Given the description of an element on the screen output the (x, y) to click on. 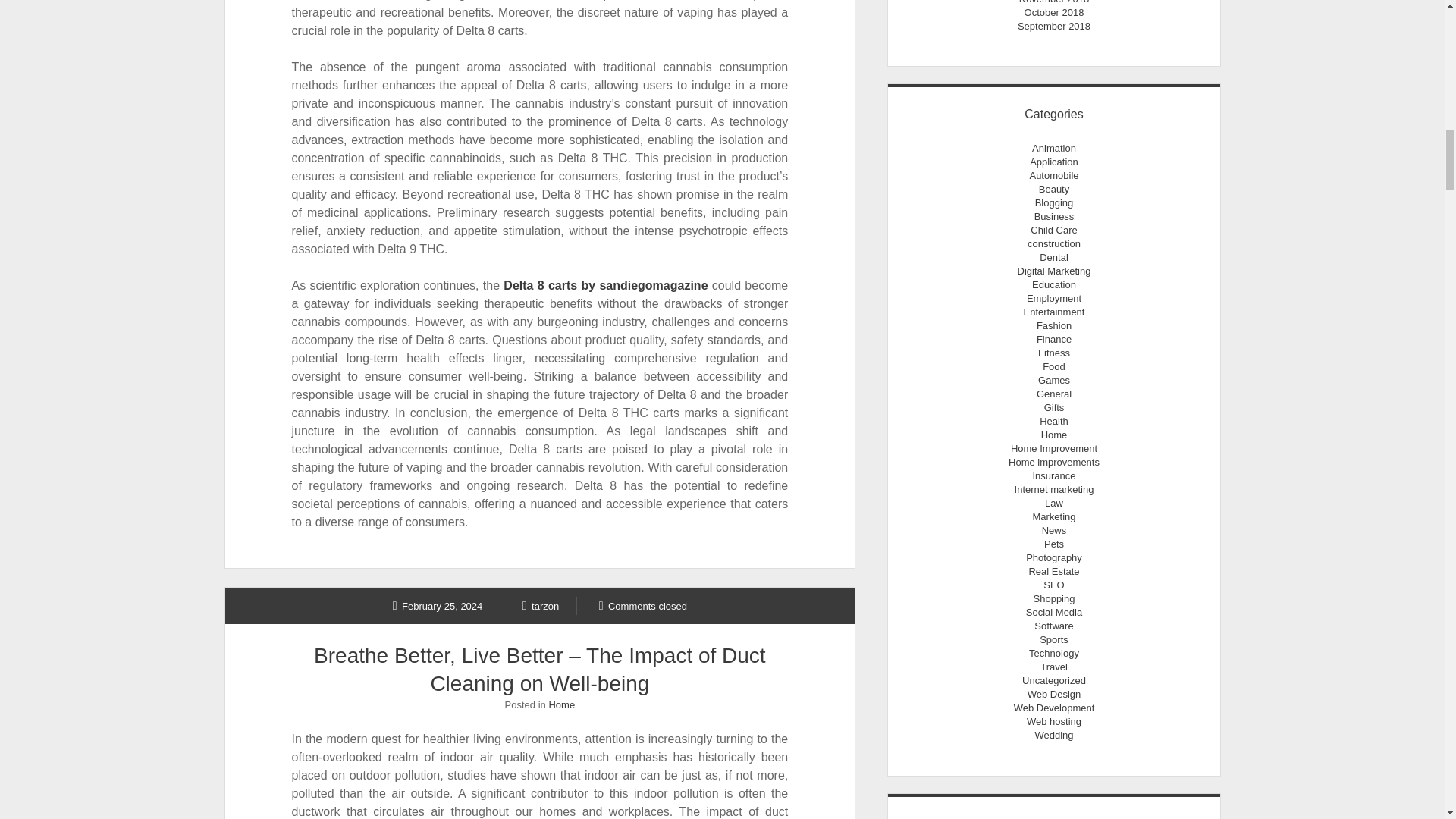
Posts from February (438, 604)
View all posts in Home (561, 704)
Delta 8 carts by sandiegomagazine (605, 285)
Comments closed (642, 604)
Comments for this post (642, 604)
Posts by tarzon (540, 604)
February 25, 2024 (438, 604)
tarzon (540, 604)
Home (561, 704)
